Given the description of an element on the screen output the (x, y) to click on. 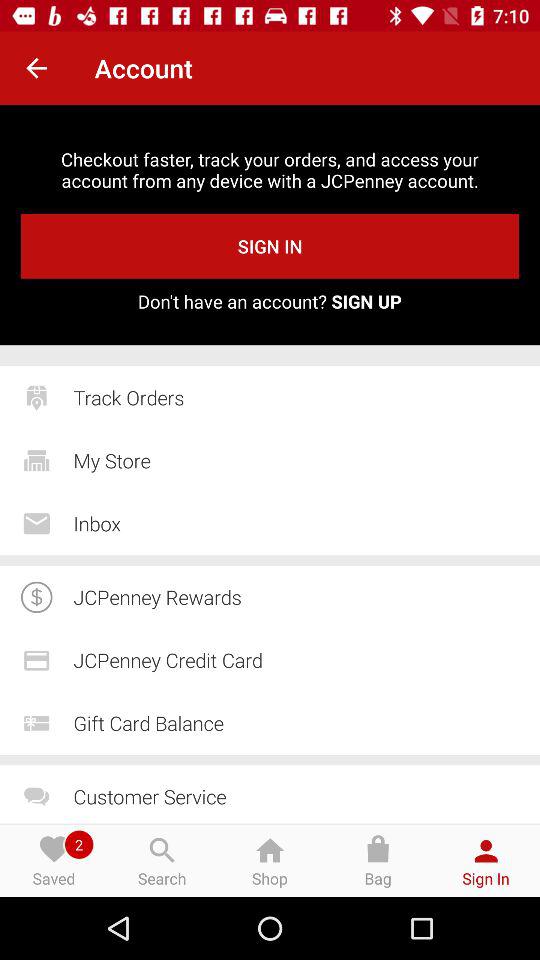
select icon next to the account (36, 68)
